Given the description of an element on the screen output the (x, y) to click on. 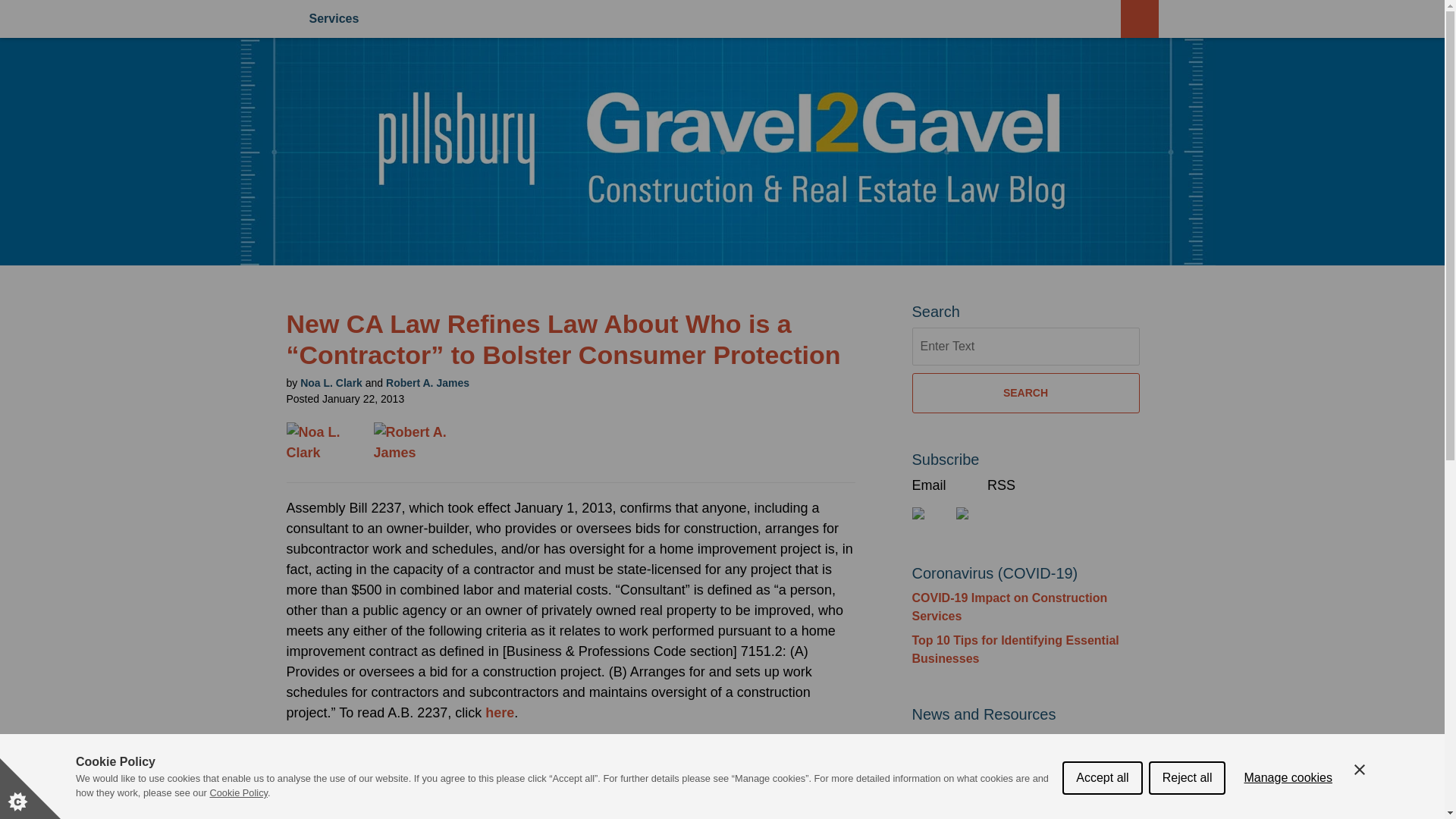
Robert A. James (426, 382)
Noa L. Clark (330, 442)
here (498, 712)
Robert A. James (410, 442)
Published By Pillsbury Winthrop Shaw Pittman LLP (68, 95)
Twitter (929, 512)
Noa L. Clark (324, 442)
COVID-19 Impact on Construction Services (1008, 606)
Email (941, 485)
Noa L. Clark (416, 442)
RSS (1012, 485)
Noa L. Clark (330, 382)
Manage cookies (1287, 808)
Search (1044, 114)
